Given the description of an element on the screen output the (x, y) to click on. 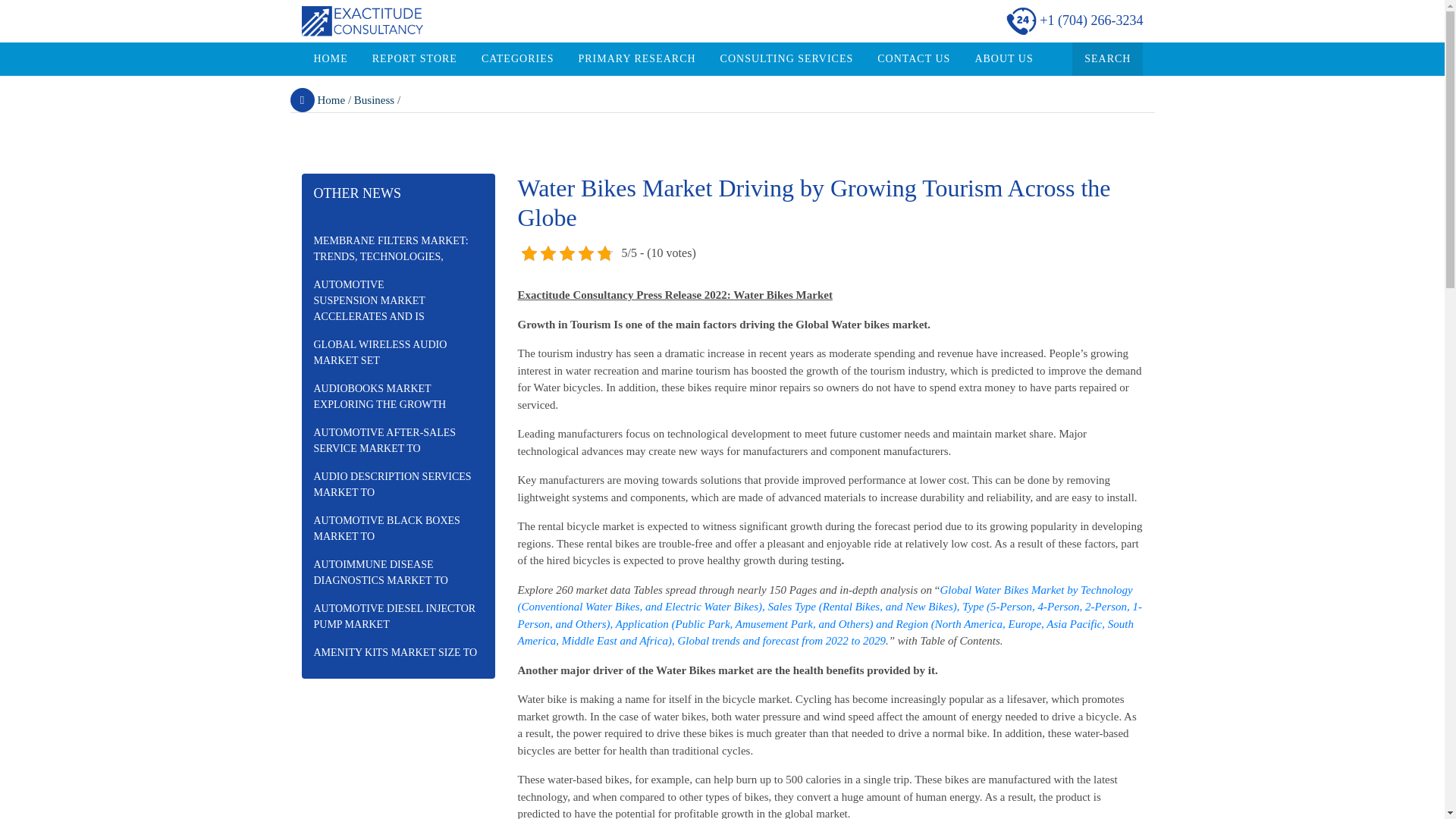
AUTOIMMUNE DISEASE DIAGNOSTICS MARKET TO (398, 572)
SEARCH (1106, 59)
CONSULTING SERVICES (786, 59)
AUDIOBOOKS MARKET EXPLORING THE GROWTH (398, 396)
Business (373, 100)
HOME (330, 59)
AUTOMOTIVE DIESEL INJECTOR PUMP MARKET (398, 616)
CONTACT US (913, 59)
CATEGORIES (517, 59)
AUTOMOTIVE BLACK BOXES MARKET TO (398, 528)
